Given the description of an element on the screen output the (x, y) to click on. 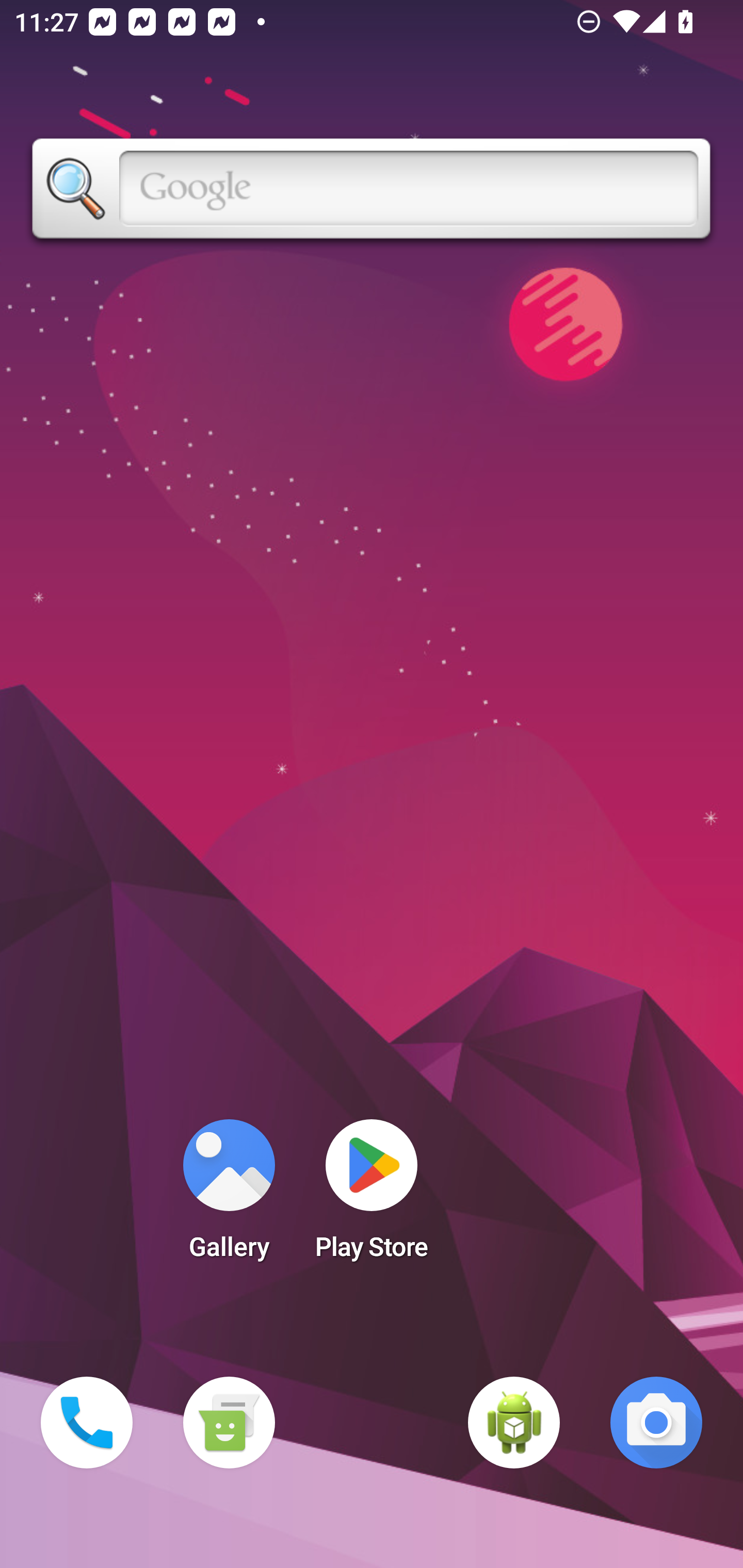
Gallery (228, 1195)
Play Store (371, 1195)
Phone (86, 1422)
Messaging (228, 1422)
WebView Browser Tester (513, 1422)
Camera (656, 1422)
